Given the description of an element on the screen output the (x, y) to click on. 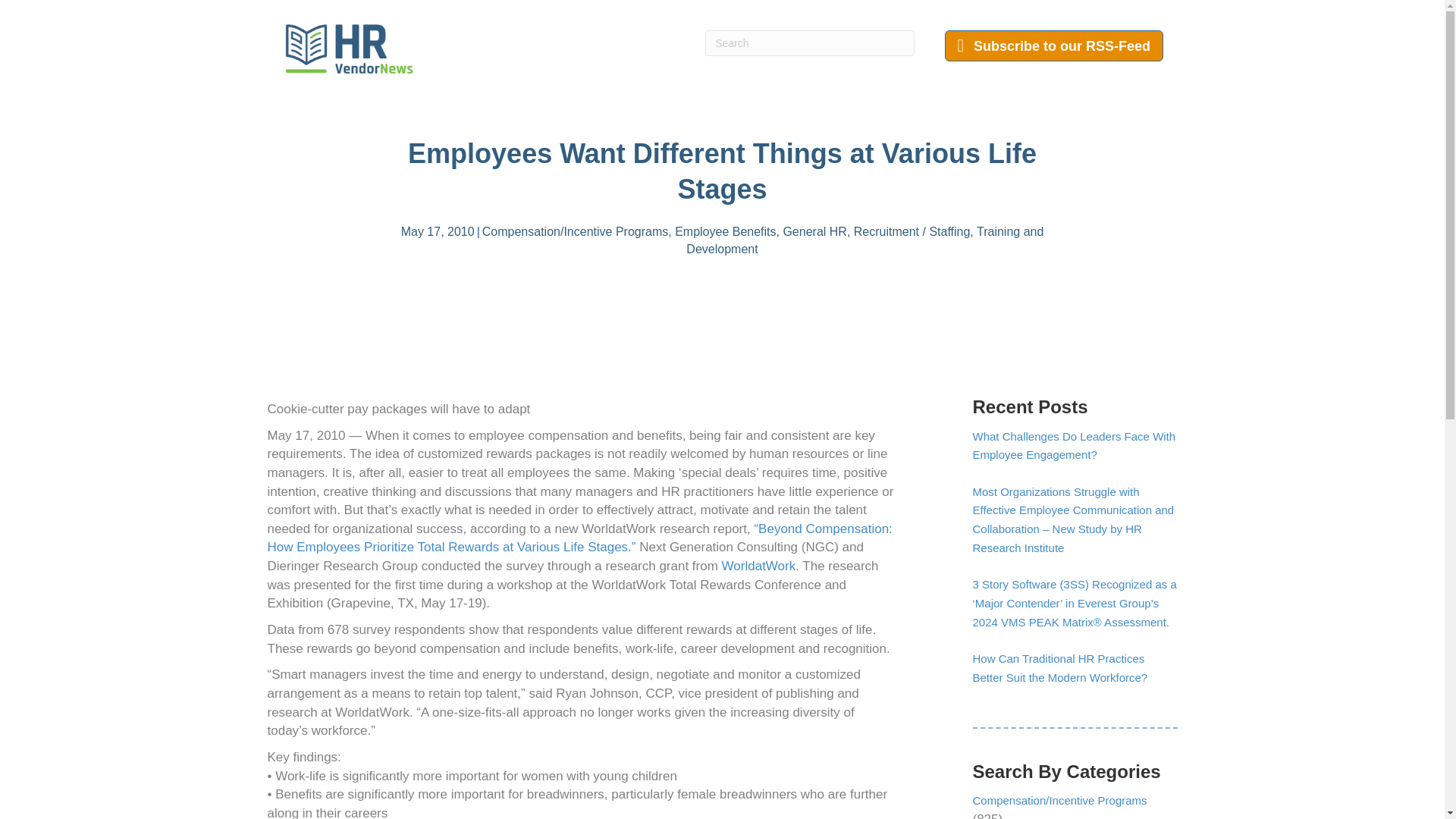
HR Logo color (348, 48)
General HR (814, 231)
Type and press Enter to search. (809, 43)
Employee Benefits (725, 231)
What Challenges Do Leaders Face With Employee Engagement? (1073, 445)
Subscribe to our RSS-Feed (1053, 45)
WorldatWork. (760, 565)
Training and Development (864, 240)
